Given the description of an element on the screen output the (x, y) to click on. 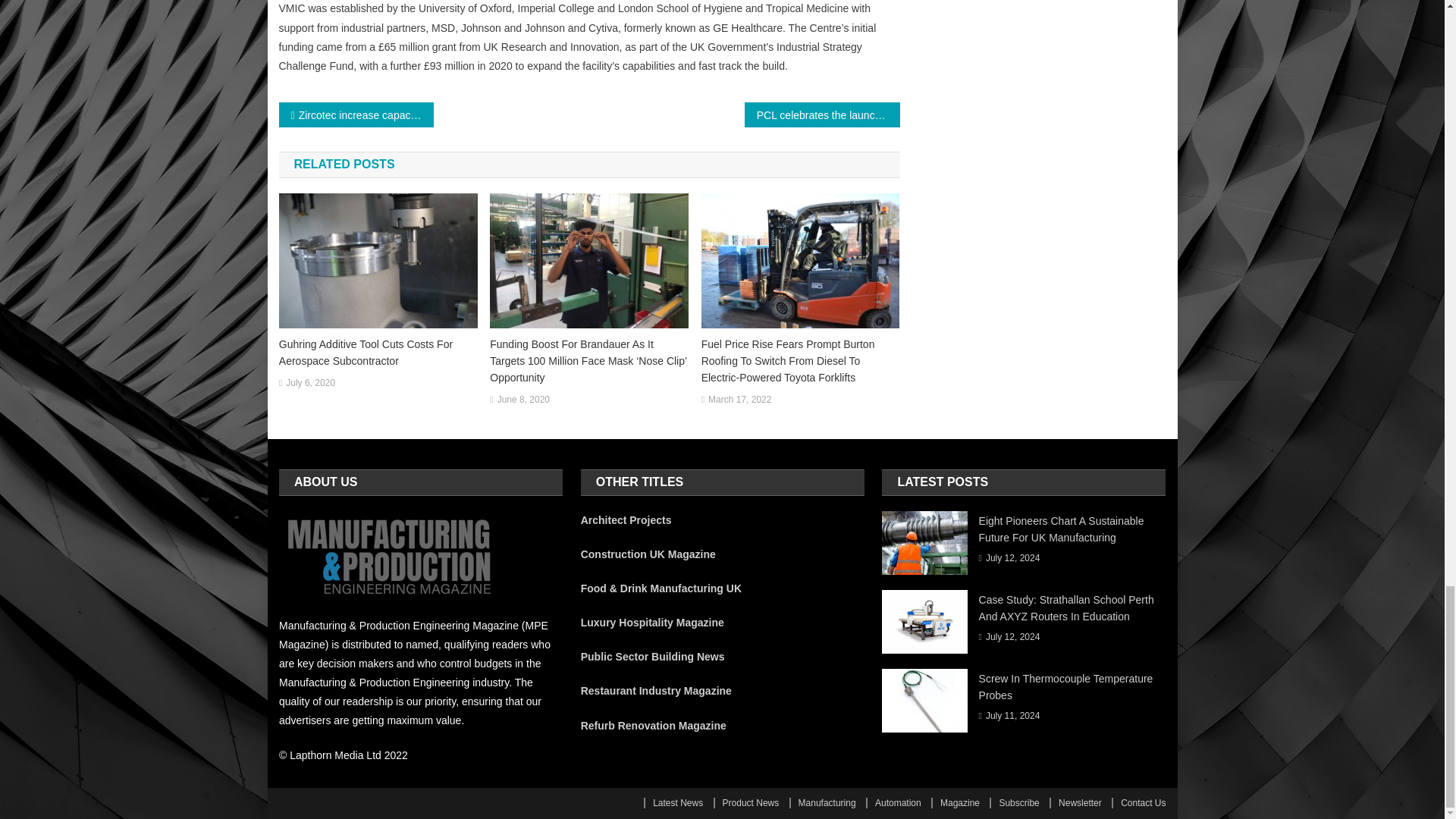
June 8, 2020 (523, 400)
March 17, 2022 (739, 400)
Guhring Additive Tool Cuts Costs For Aerospace Subcontractor (378, 352)
July 6, 2020 (309, 383)
